Given the description of an element on the screen output the (x, y) to click on. 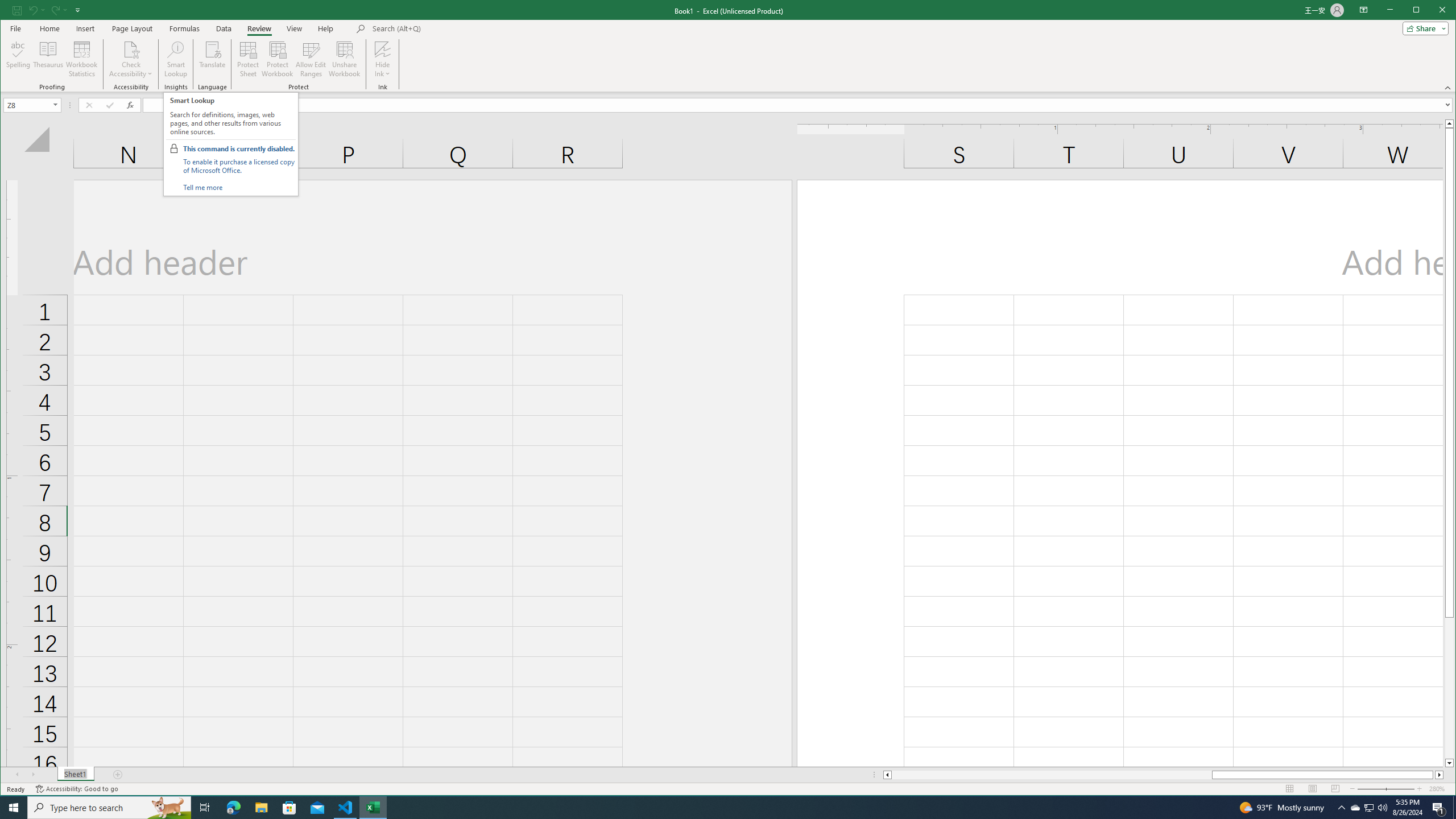
Microsoft Store (289, 807)
Hide Ink (382, 48)
Q2790: 100% (1382, 807)
Hide Ink (382, 59)
Allow Edit Ranges (310, 59)
Translate (212, 59)
